Given the description of an element on the screen output the (x, y) to click on. 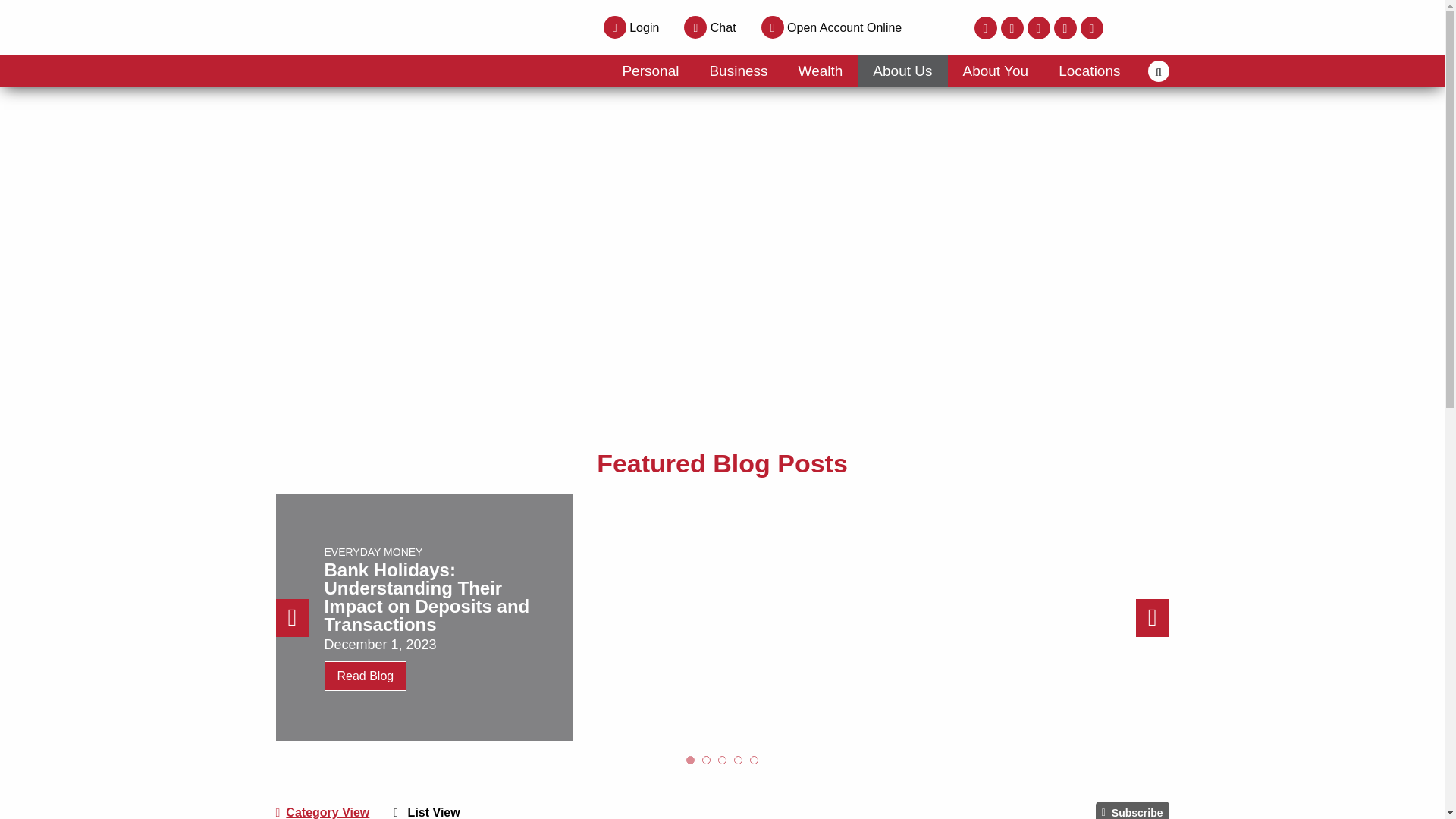
Business (738, 70)
Personal (650, 70)
Locations (1089, 70)
Chat (709, 27)
About You (995, 70)
Open Account Online (831, 27)
About Us (902, 70)
Wealth (821, 70)
Login (631, 27)
